Given the description of an element on the screen output the (x, y) to click on. 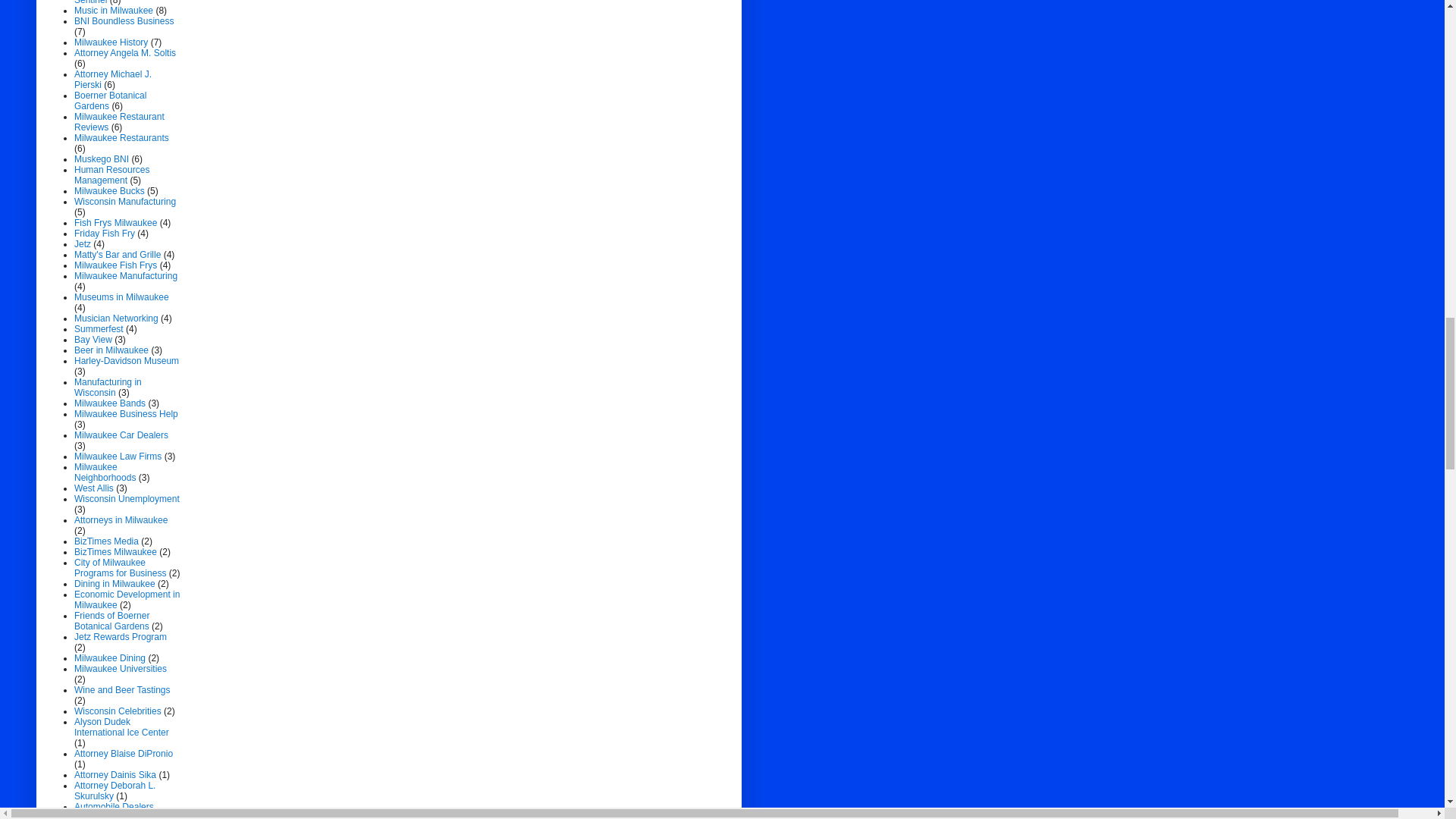
Milwaukee Journal Sentinel (111, 2)
Music in Milwaukee (113, 9)
